Given the description of an element on the screen output the (x, y) to click on. 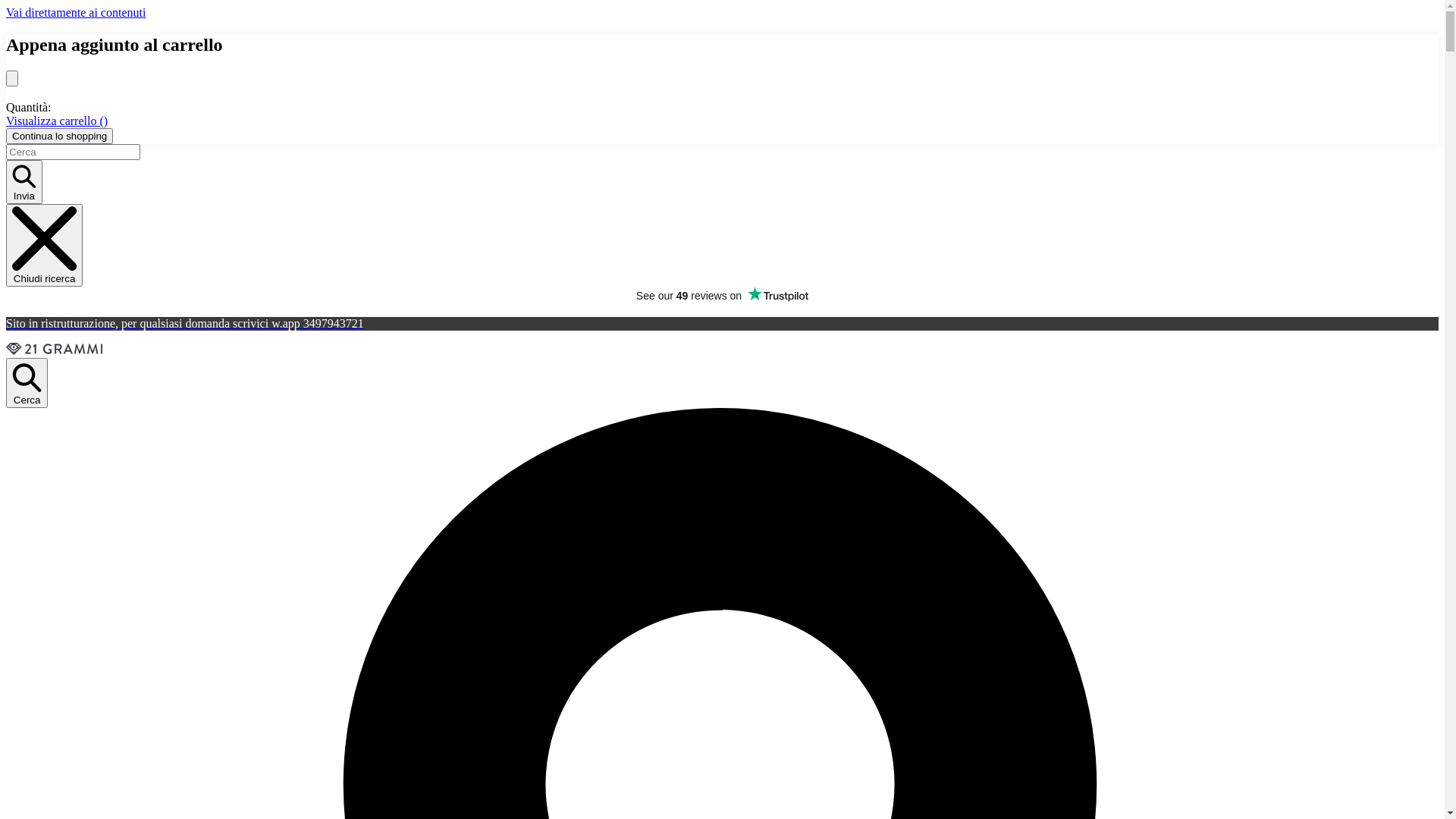
Continua lo shopping Element type: text (59, 136)
Invia Element type: text (24, 181)
Customer reviews powered by Trustpilot Element type: hover (722, 295)
Visualizza carrello () Element type: text (56, 120)
Vai direttamente ai contenuti Element type: text (75, 12)
Chiudi ricerca Element type: text (44, 244)
Cerca Element type: text (26, 382)
